Given the description of an element on the screen output the (x, y) to click on. 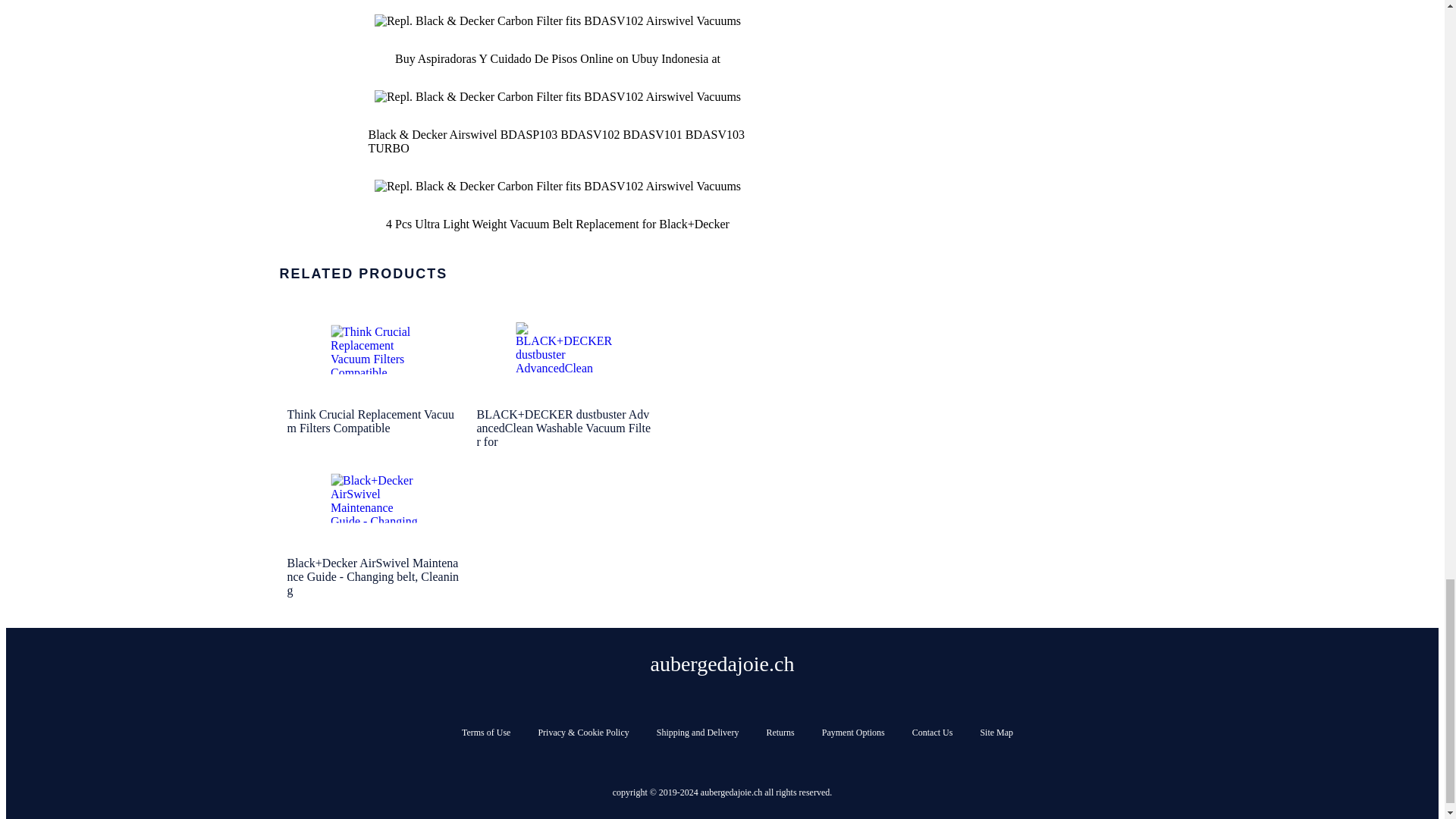
Think Crucial Replacement Vacuum Filters Compatible (373, 374)
Shipping and Delivery (697, 732)
Payment Options (853, 732)
Site Map (996, 732)
Returns (779, 732)
 Think Crucial Replacement Vacuum Filters Compatible (373, 349)
Terms of Use (486, 732)
Contact Us (932, 732)
